Given the description of an element on the screen output the (x, y) to click on. 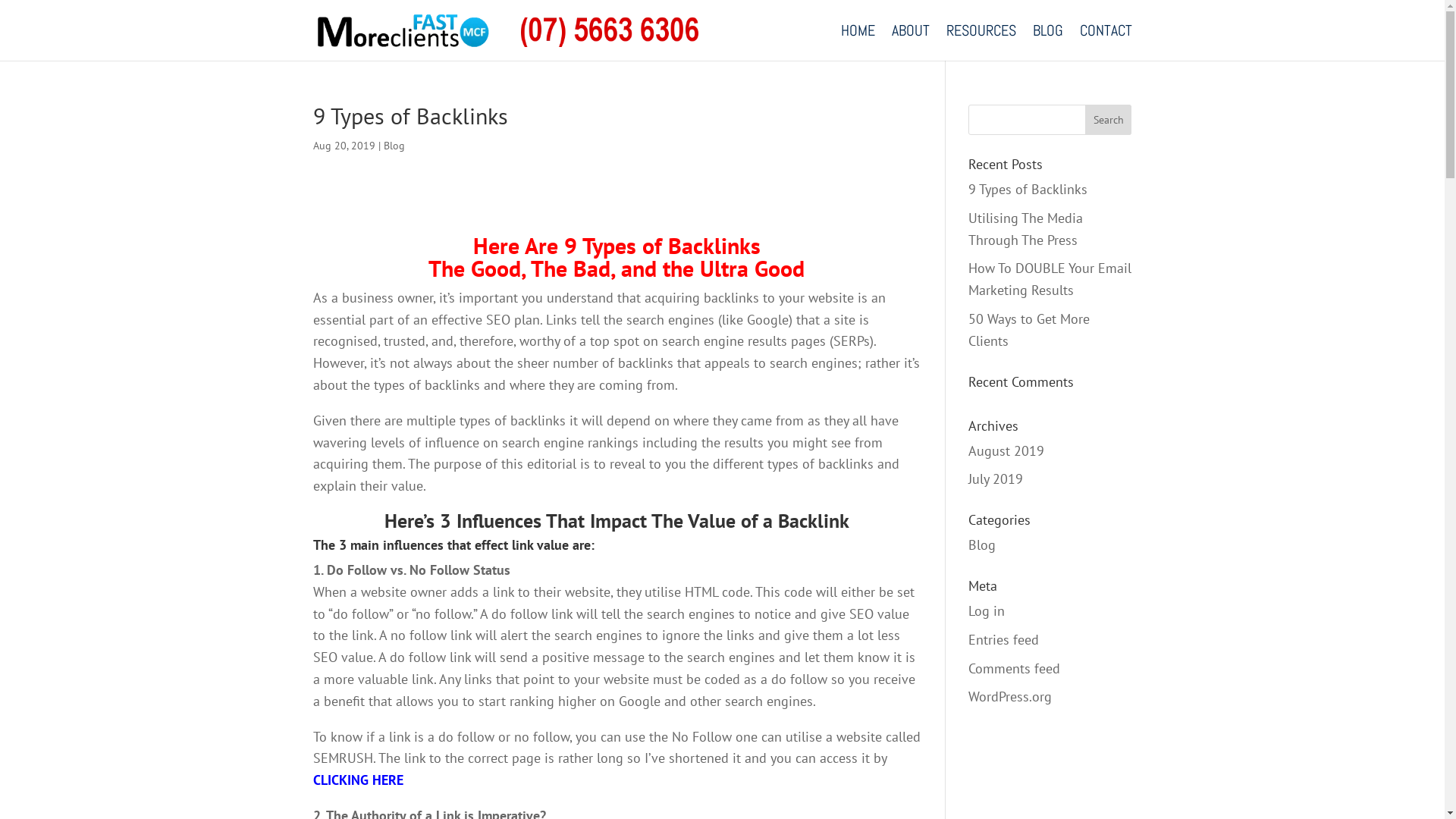
ABOUT Element type: text (910, 42)
HOME Element type: text (857, 42)
Entries feed Element type: text (1003, 639)
WordPress.org Element type: text (1009, 696)
Blog Element type: text (981, 544)
Comments feed Element type: text (1014, 668)
50 Ways to Get More Clients Element type: text (1028, 329)
RESOURCES Element type: text (981, 42)
Search Element type: text (1108, 119)
9 Types of Backlinks Element type: text (1027, 188)
CLICKING HERE Element type: text (357, 779)
CONTACT Element type: text (1105, 42)
How To DOUBLE Your Email Marketing Results Element type: text (1049, 278)
Utilising The Media Through The Press Element type: text (1025, 228)
July 2019 Element type: text (995, 478)
August 2019 Element type: text (1006, 450)
Log in Element type: text (986, 610)
BLOG Element type: text (1047, 42)
Blog Element type: text (393, 145)
